Given the description of an element on the screen output the (x, y) to click on. 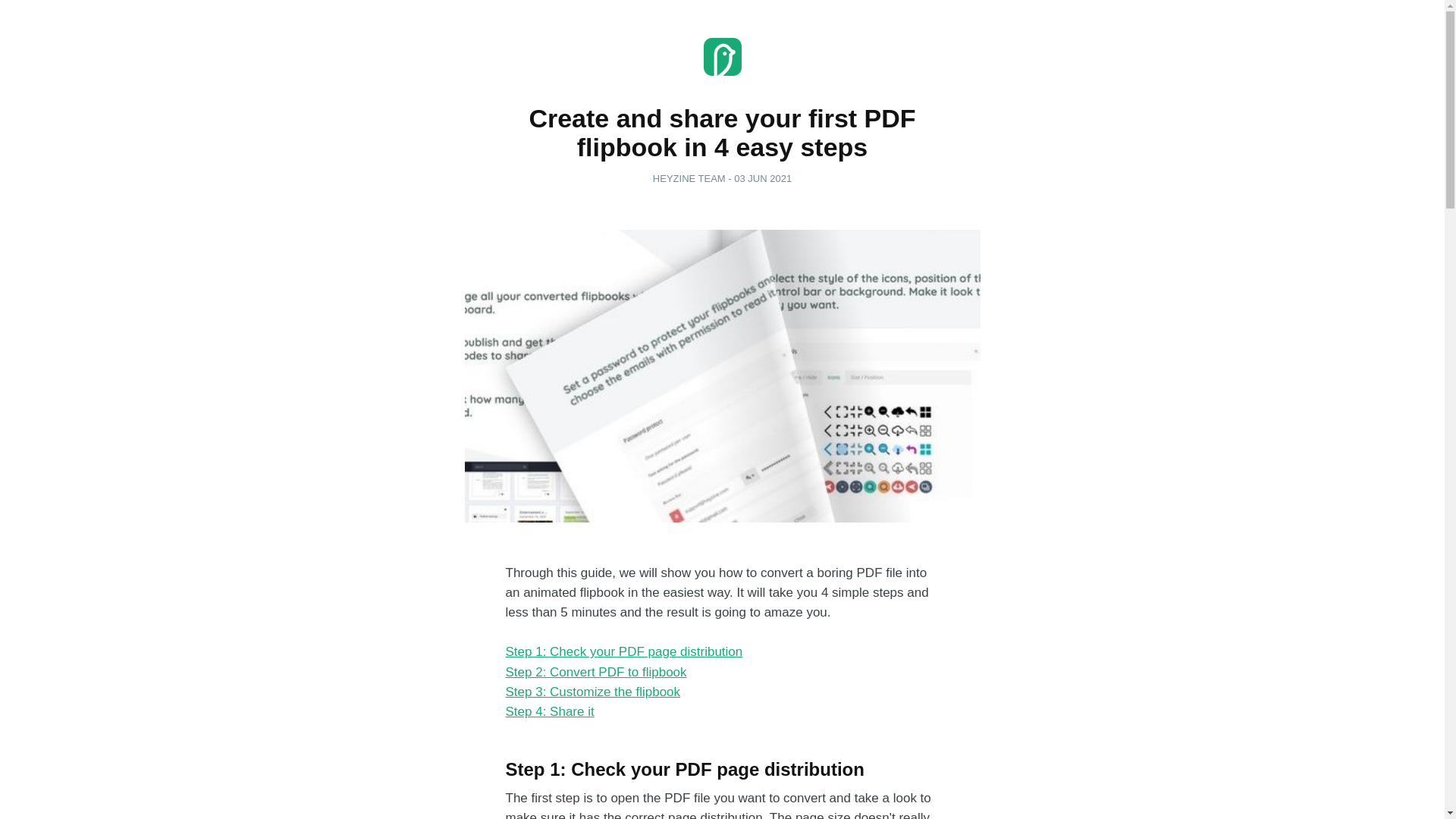
Step 4: Share it (549, 711)
Step 2: Convert PDF to flipbook (595, 672)
Step 1: Check your PDF page distribution (623, 651)
Step 3: Customize the flipbook (592, 691)
